Given the description of an element on the screen output the (x, y) to click on. 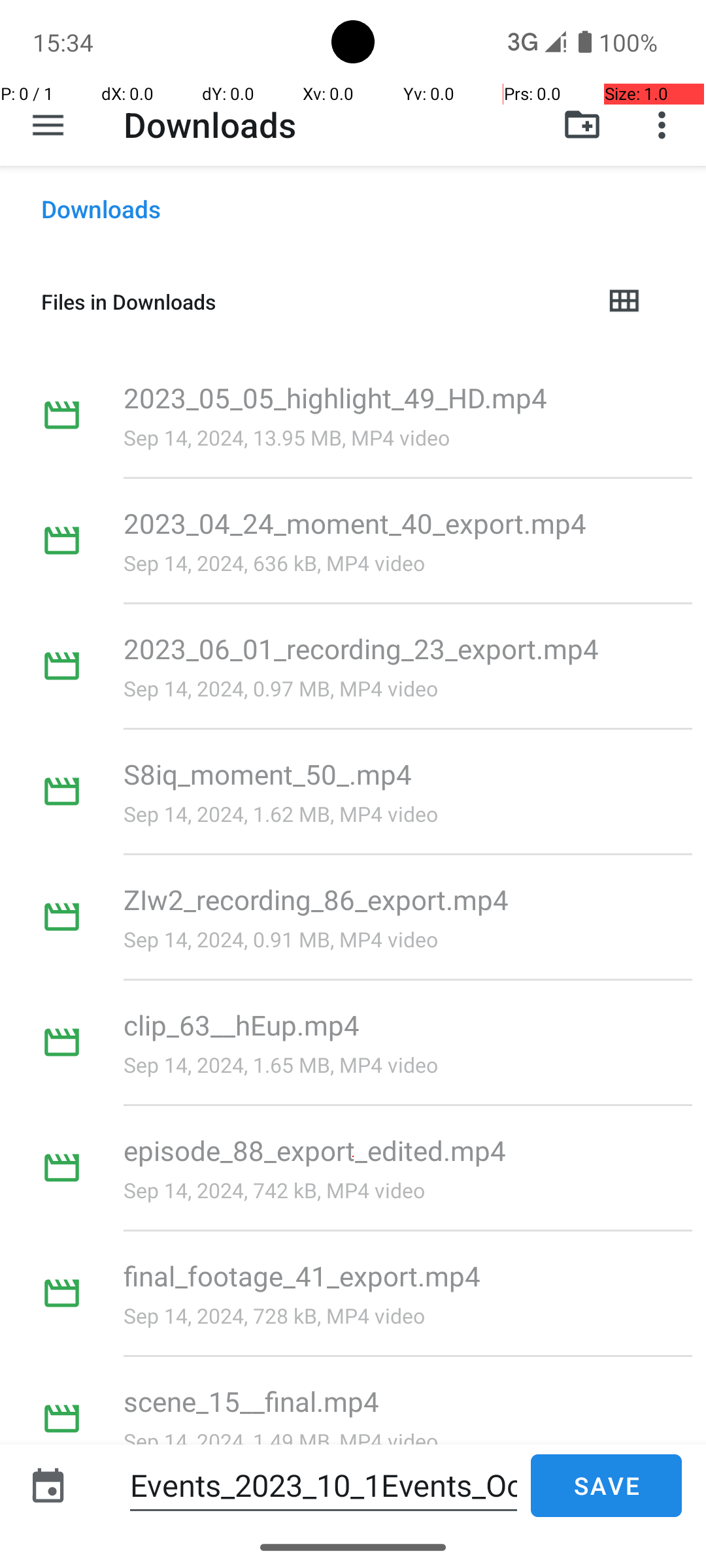
New folder Element type: android.widget.TextView (581, 124)
Events_2023_10_1Events_October_2023_Backup5_15_34_12.ics Element type: android.widget.EditText (323, 1485)
2023_05_05_highlight_49_HD.mp4 Element type: android.widget.TextView (335, 397)
Sep 14, 2024, 13.95 MB, MP4 video Element type: android.widget.TextView (286, 437)
2023_04_24_moment_40_export.mp4 Element type: android.widget.TextView (355, 522)
Sep 14, 2024, 636 kB, MP4 video Element type: android.widget.TextView (273, 562)
2023_06_01_recording_23_export.mp4 Element type: android.widget.TextView (361, 648)
Sep 14, 2024, 0.97 MB, MP4 video Element type: android.widget.TextView (280, 688)
S8iq_moment_50_.mp4 Element type: android.widget.TextView (267, 773)
Sep 14, 2024, 1.62 MB, MP4 video Element type: android.widget.TextView (280, 813)
ZIw2_recording_86_export.mp4 Element type: android.widget.TextView (316, 898)
Sep 14, 2024, 0.91 MB, MP4 video Element type: android.widget.TextView (280, 939)
clip_63__hEup.mp4 Element type: android.widget.TextView (241, 1024)
Sep 14, 2024, 1.65 MB, MP4 video Element type: android.widget.TextView (280, 1064)
episode_88_export_edited.mp4 Element type: android.widget.TextView (314, 1149)
Sep 14, 2024, 742 kB, MP4 video Element type: android.widget.TextView (273, 1190)
final_footage_41_export.mp4 Element type: android.widget.TextView (302, 1275)
Sep 14, 2024, 728 kB, MP4 video Element type: android.widget.TextView (273, 1315)
scene_15__final.mp4 Element type: android.widget.TextView (251, 1400)
Sep 14, 2024, 1.49 MB, MP4 video Element type: android.widget.TextView (280, 1440)
